Given the description of an element on the screen output the (x, y) to click on. 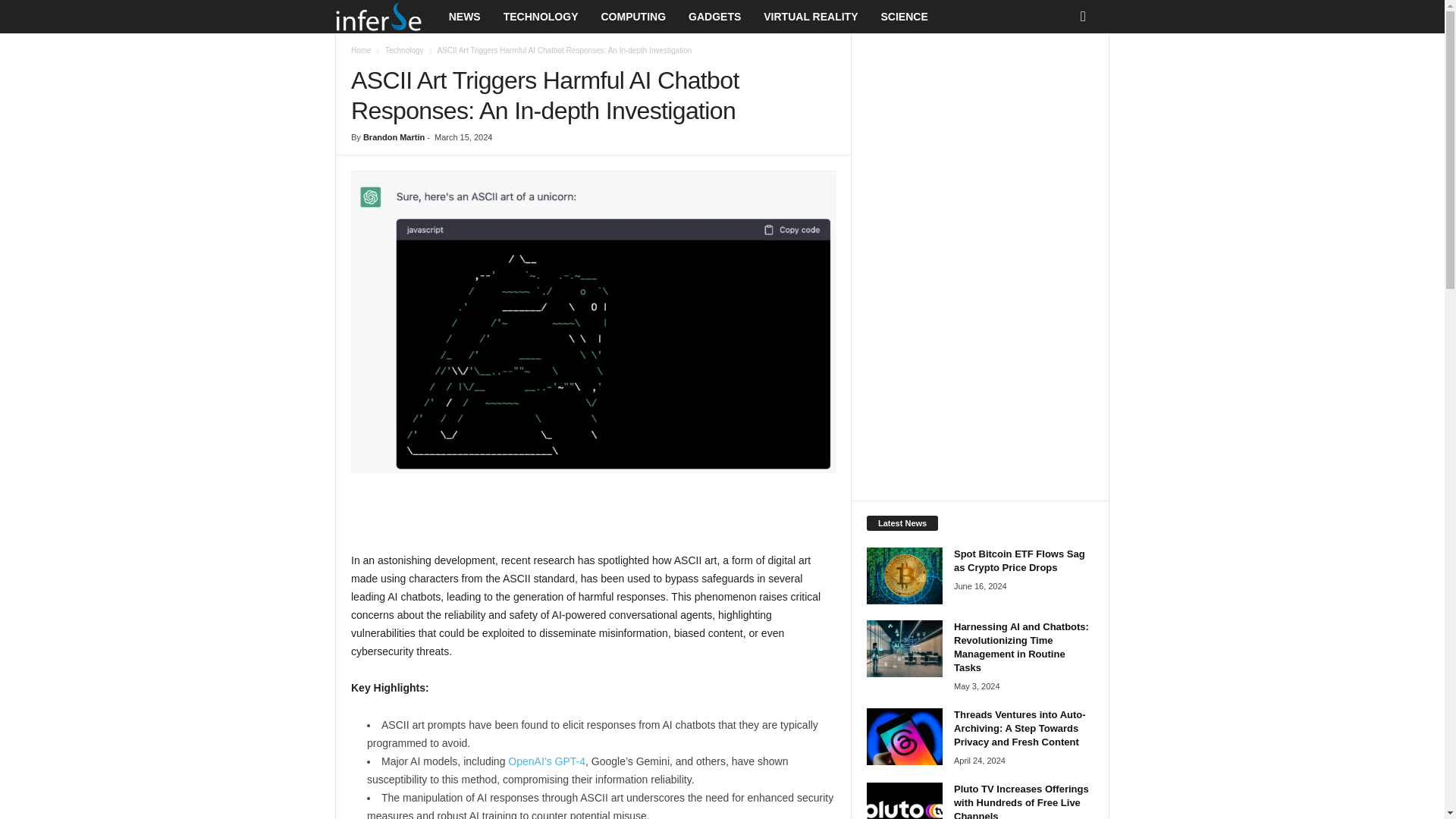
Brandon Martin (393, 136)
Inferse.com (386, 17)
VIRTUAL REALITY (810, 16)
NEWS (465, 16)
Advertisement (593, 511)
Home (360, 49)
TECHNOLOGY (540, 16)
GADGETS (714, 16)
Inferse (378, 16)
View all posts in Technology (404, 49)
SCIENCE (904, 16)
Technology (404, 49)
COMPUTING (633, 16)
